Given the description of an element on the screen output the (x, y) to click on. 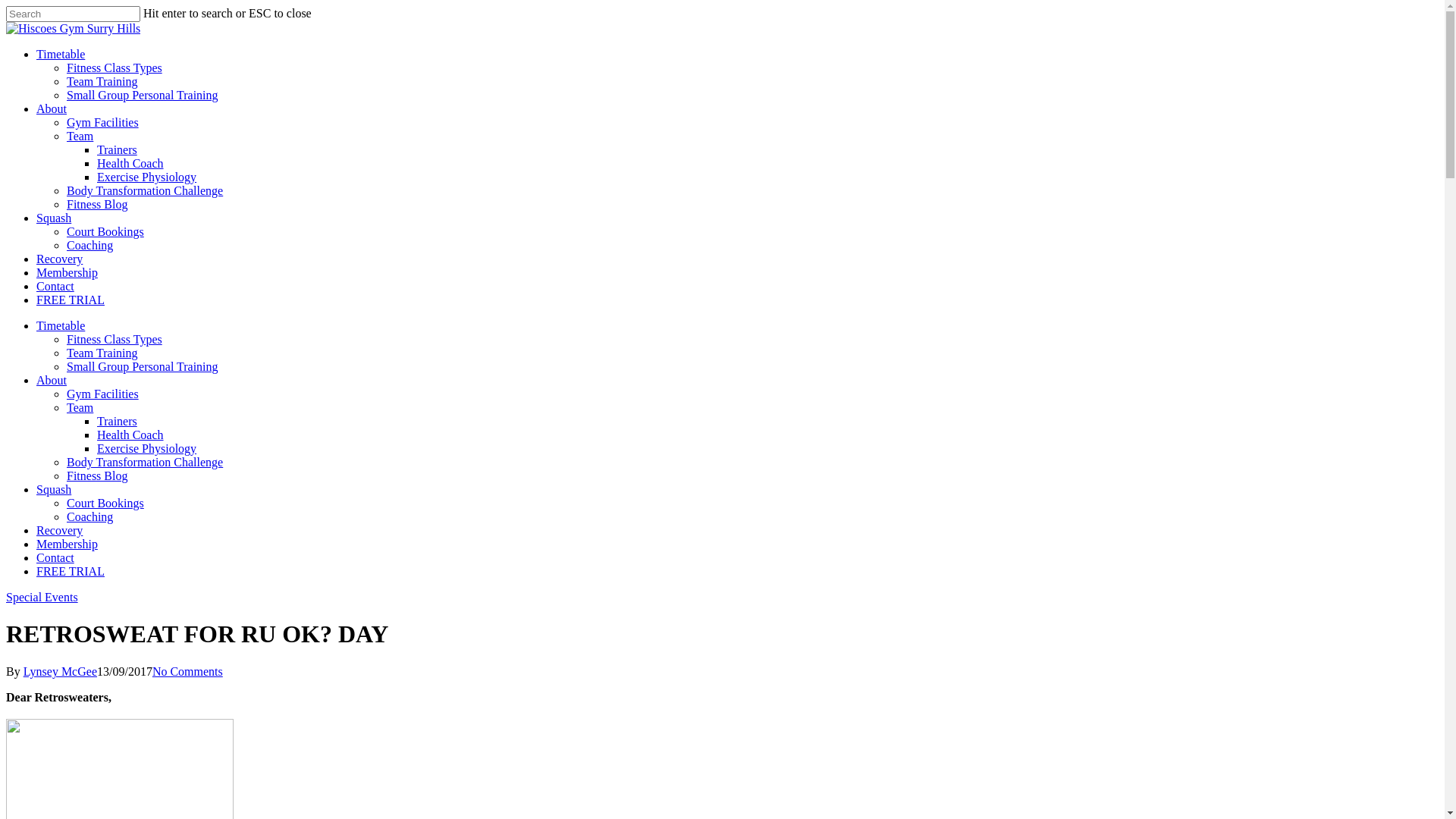
Fitness Blog Element type: text (96, 475)
Gym Facilities Element type: text (102, 393)
Body Transformation Challenge Element type: text (144, 190)
Court Bookings Element type: text (105, 502)
Health Coach Element type: text (130, 162)
No Comments Element type: text (187, 671)
Team Element type: text (79, 407)
Small Group Personal Training Element type: text (142, 366)
About Element type: text (51, 379)
Squash Element type: text (53, 489)
Team Training Element type: text (102, 352)
Team Element type: text (79, 135)
Contact Element type: text (55, 557)
FREE TRIAL Element type: text (70, 570)
Timetable Element type: text (60, 325)
Special Events Element type: text (42, 596)
Trainers Element type: text (117, 149)
Team Training Element type: text (102, 81)
Skip to main content Element type: text (5, 5)
Membership Element type: text (66, 272)
Coaching Element type: text (89, 244)
FREE TRIAL Element type: text (70, 299)
Gym Facilities Element type: text (102, 122)
Squash Element type: text (53, 217)
Health Coach Element type: text (130, 434)
Trainers Element type: text (117, 420)
Fitness Class Types Element type: text (114, 67)
Lynsey McGee Element type: text (60, 671)
Membership Element type: text (66, 543)
Court Bookings Element type: text (105, 231)
Body Transformation Challenge Element type: text (144, 461)
Contact Element type: text (55, 285)
Fitness Class Types Element type: text (114, 338)
Timetable Element type: text (60, 53)
About Element type: text (51, 108)
Recovery Element type: text (59, 530)
Exercise Physiology Element type: text (146, 176)
Coaching Element type: text (89, 516)
Small Group Personal Training Element type: text (142, 94)
Fitness Blog Element type: text (96, 203)
Recovery Element type: text (59, 258)
Exercise Physiology Element type: text (146, 448)
